Given the description of an element on the screen output the (x, y) to click on. 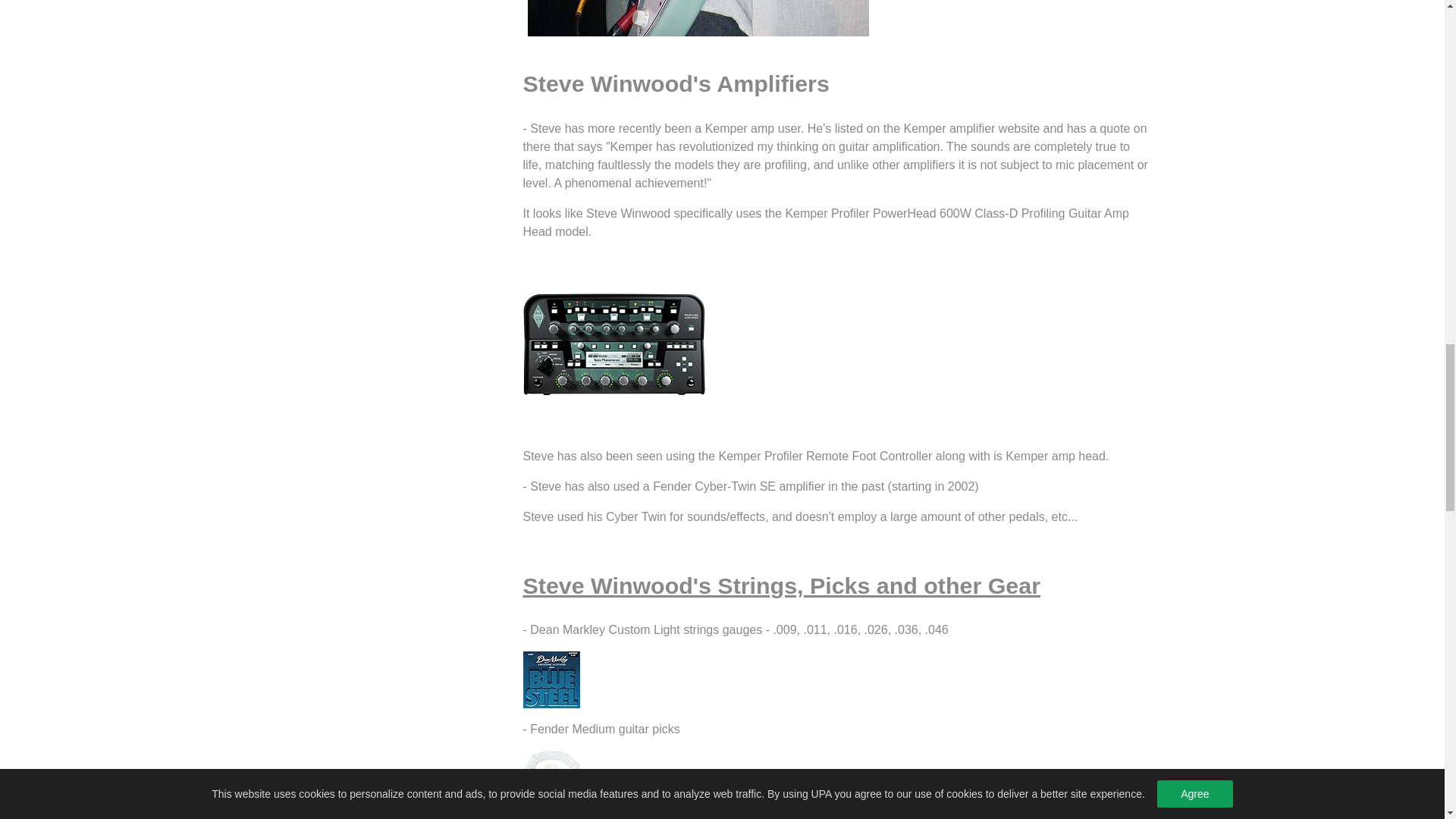
Image by sjrowe53. Creative Commons licensed from flickr (698, 18)
